Given the description of an element on the screen output the (x, y) to click on. 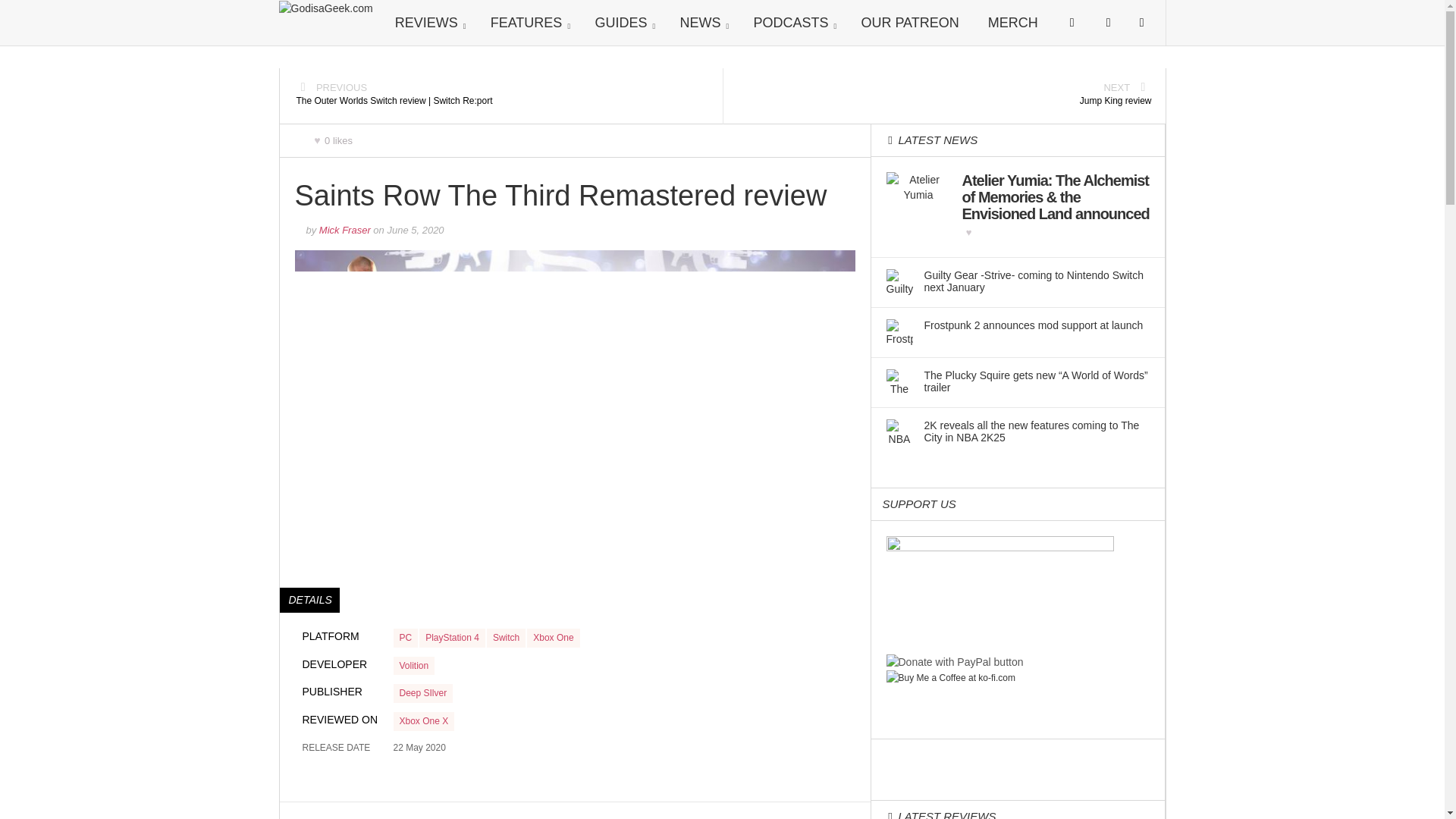
FEATURES (528, 22)
GUIDES (622, 22)
NEWS (701, 22)
Home (325, 7)
PODCASTS (791, 22)
REVIEWS (428, 22)
